Given the description of an element on the screen output the (x, y) to click on. 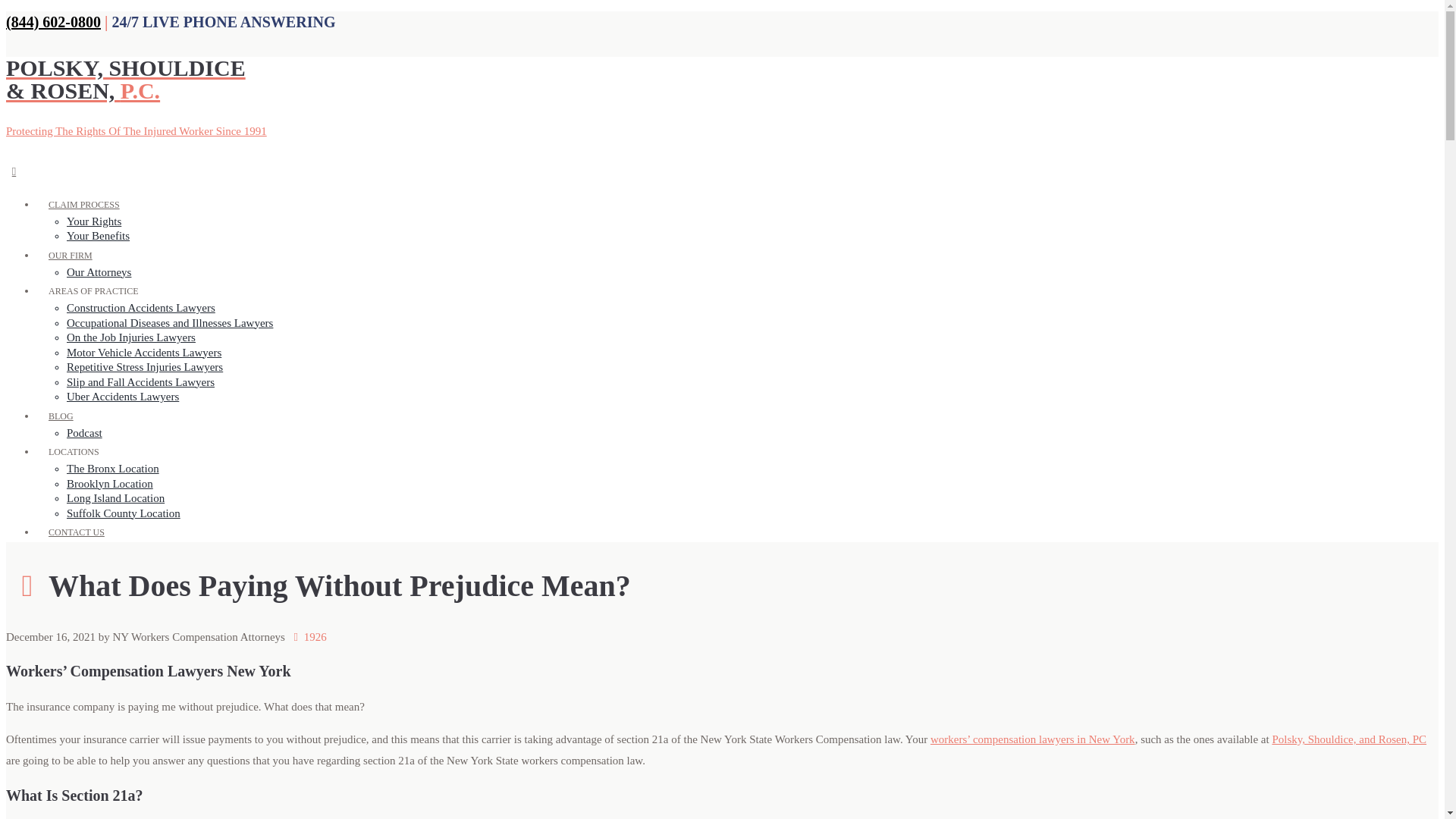
Your Rights (93, 221)
CLAIM PROCESS (84, 203)
Polsky, Shouldice, and Rosen, PC (1348, 739)
Long Island Location (115, 498)
Repetitive Stress Injuries Lawyers (144, 367)
AREAS OF PRACTICE (93, 291)
CONTACT US (76, 531)
Brooklyn Location (109, 483)
Uber Accidents Lawyers (122, 396)
Your Benefits (97, 235)
